Given the description of an element on the screen output the (x, y) to click on. 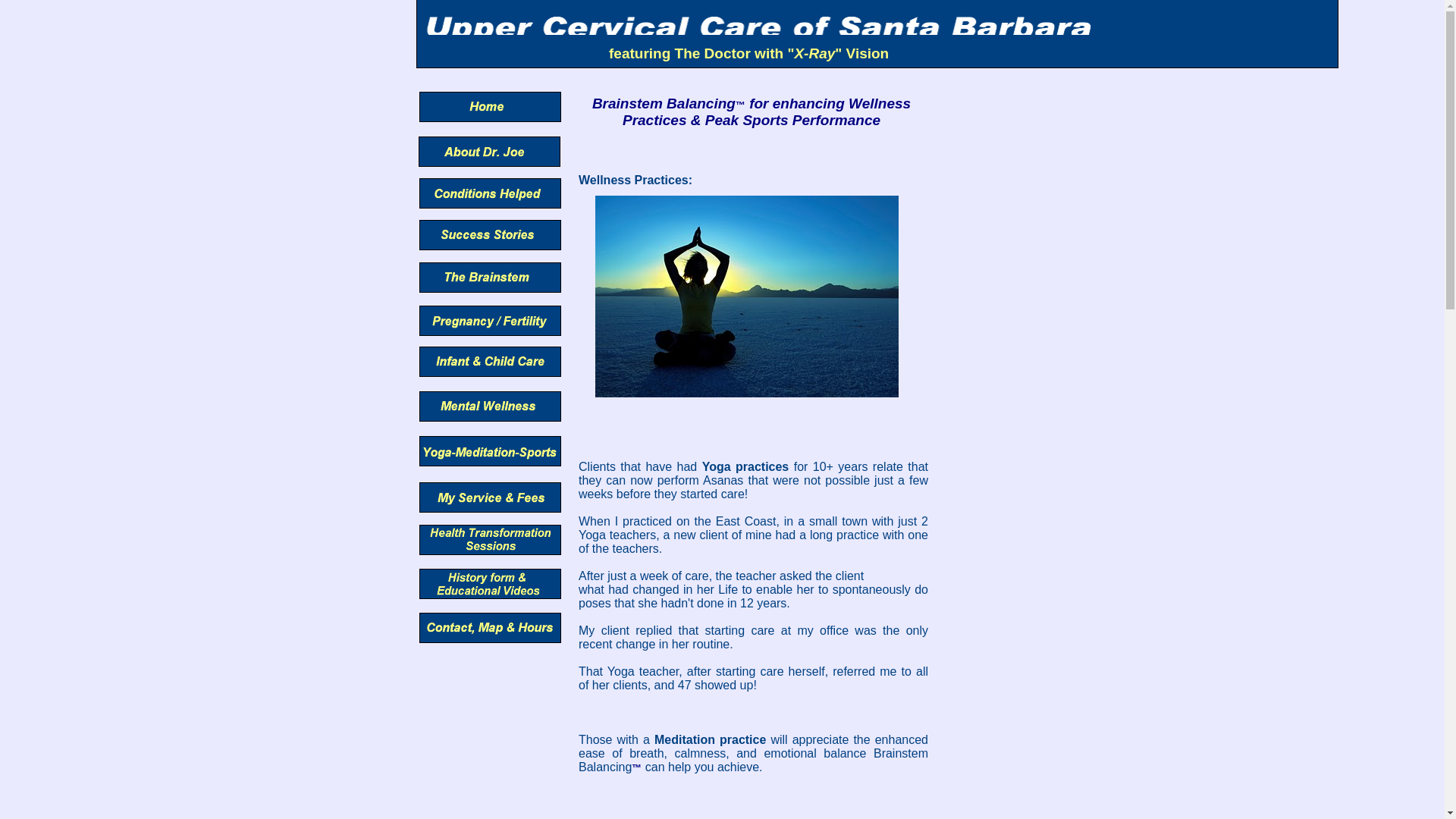
About Dr. Joe (489, 448)
About Dr. Joe (485, 102)
About Dr. Joe (488, 402)
About Dr. Joe (486, 273)
About Dr. Joe (488, 574)
About Dr. Joe (484, 148)
About Dr. Joe (489, 356)
About Dr. Joe (487, 189)
About Dr. Joe (489, 623)
About Dr. Joe (487, 230)
